Given the description of an element on the screen output the (x, y) to click on. 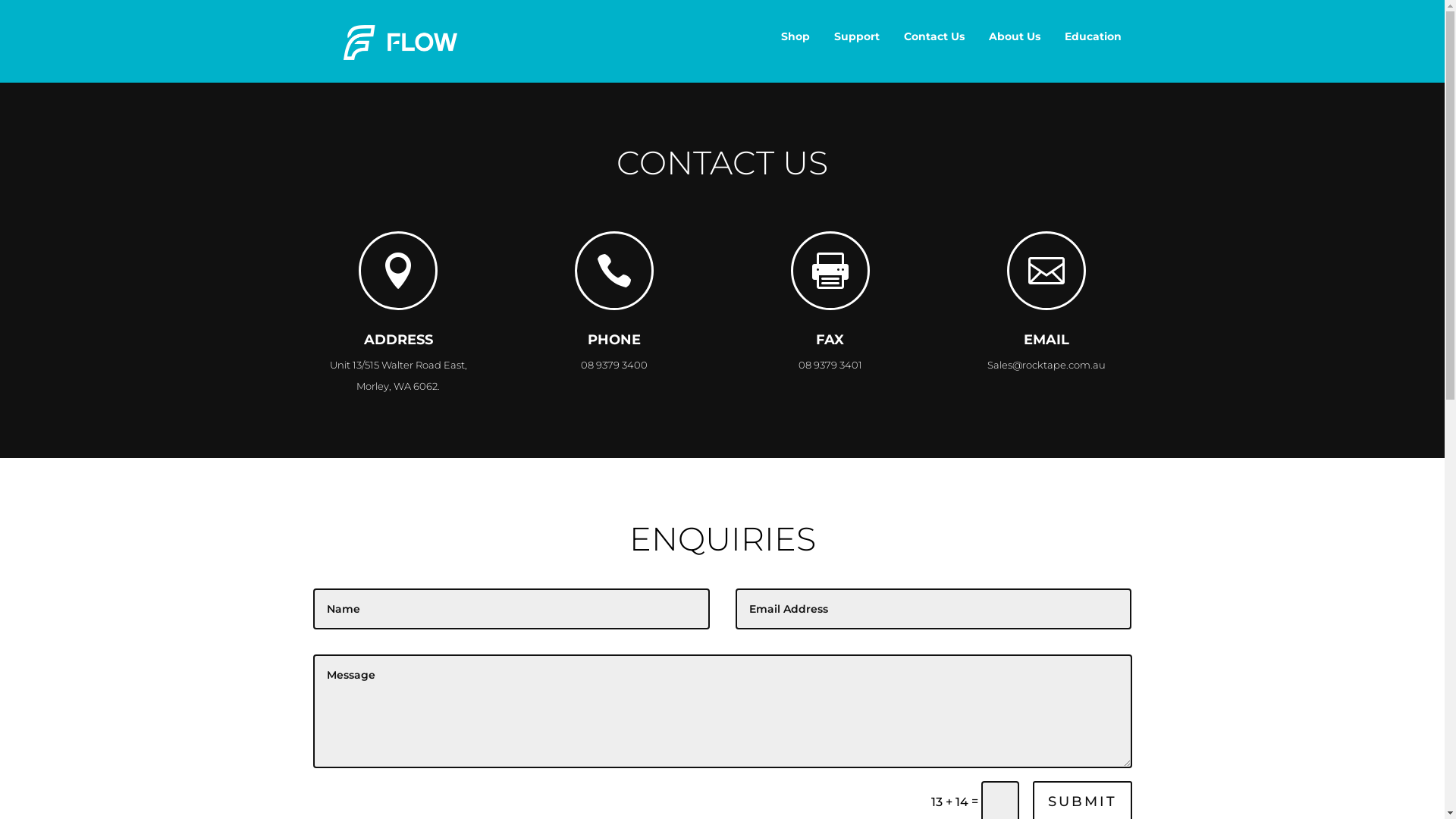
Contact Us Element type: text (934, 36)
Support Element type: text (856, 36)
About Us Element type: text (1014, 36)
Education Element type: text (1093, 36)
Shop Element type: text (795, 36)
